Given the description of an element on the screen output the (x, y) to click on. 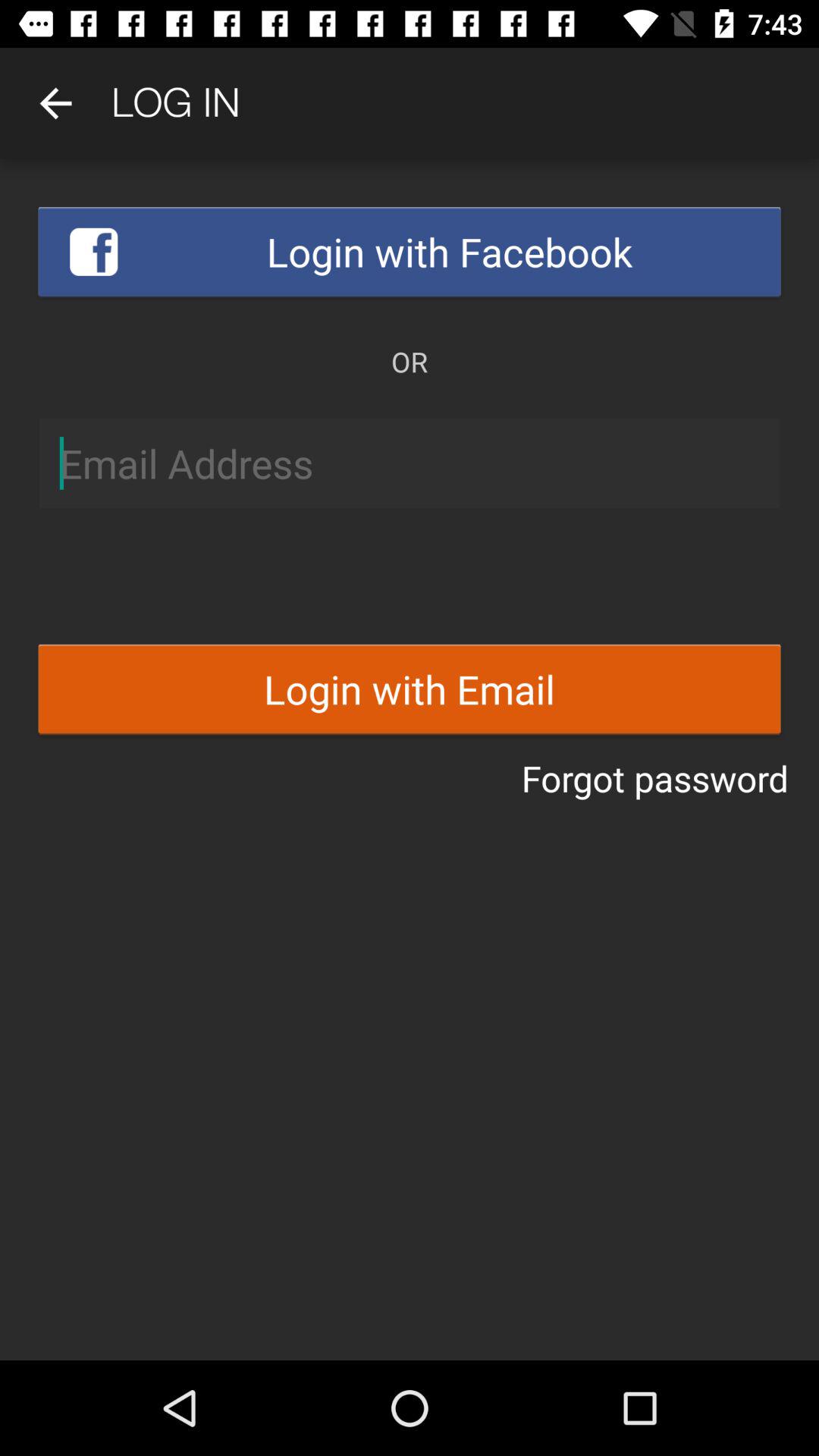
select the icon at the top left corner (55, 103)
